Given the description of an element on the screen output the (x, y) to click on. 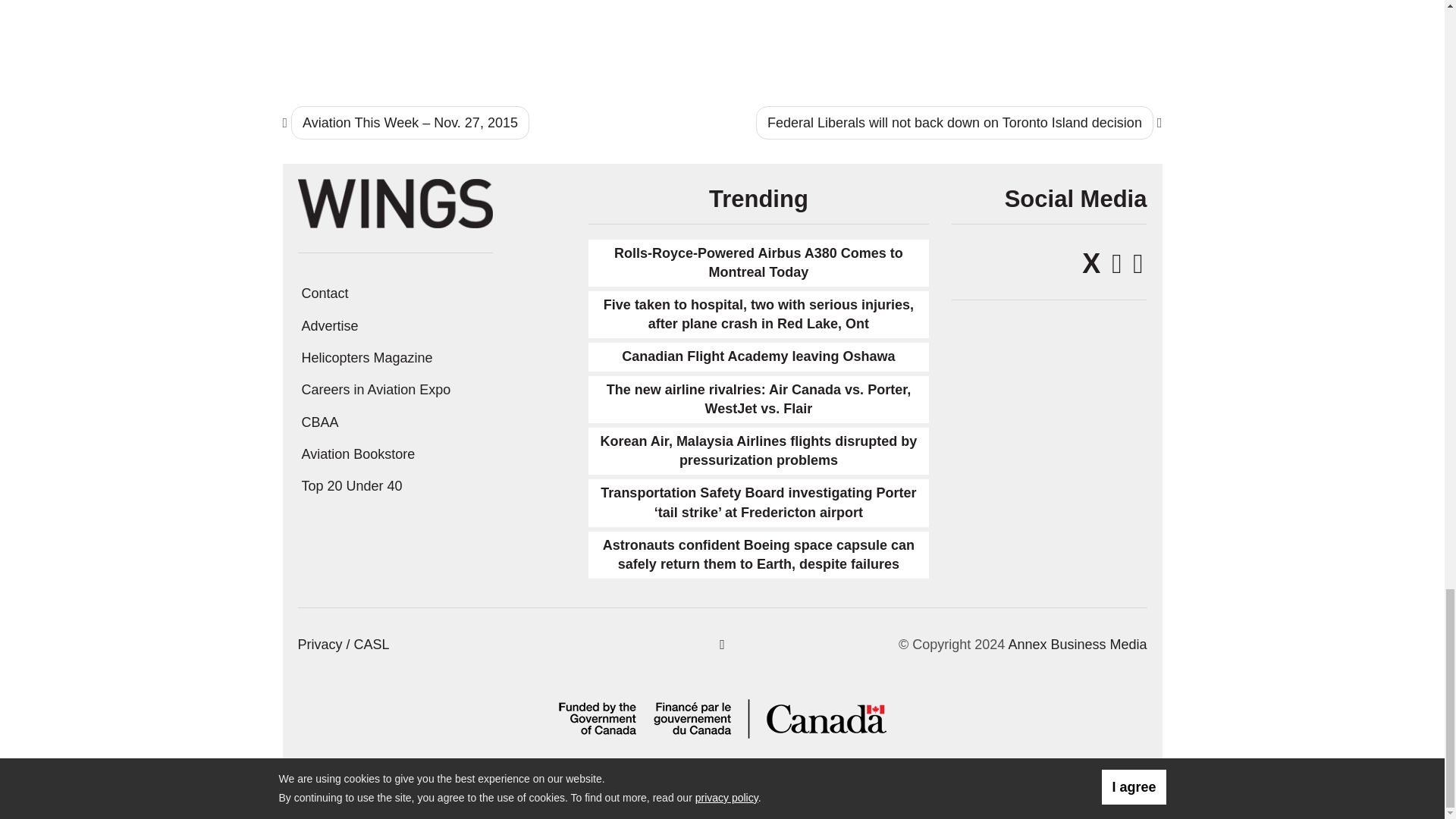
Wings Magazine (395, 201)
3rd party ad content (1060, 37)
Annex Business Media (1077, 644)
